Given the description of an element on the screen output the (x, y) to click on. 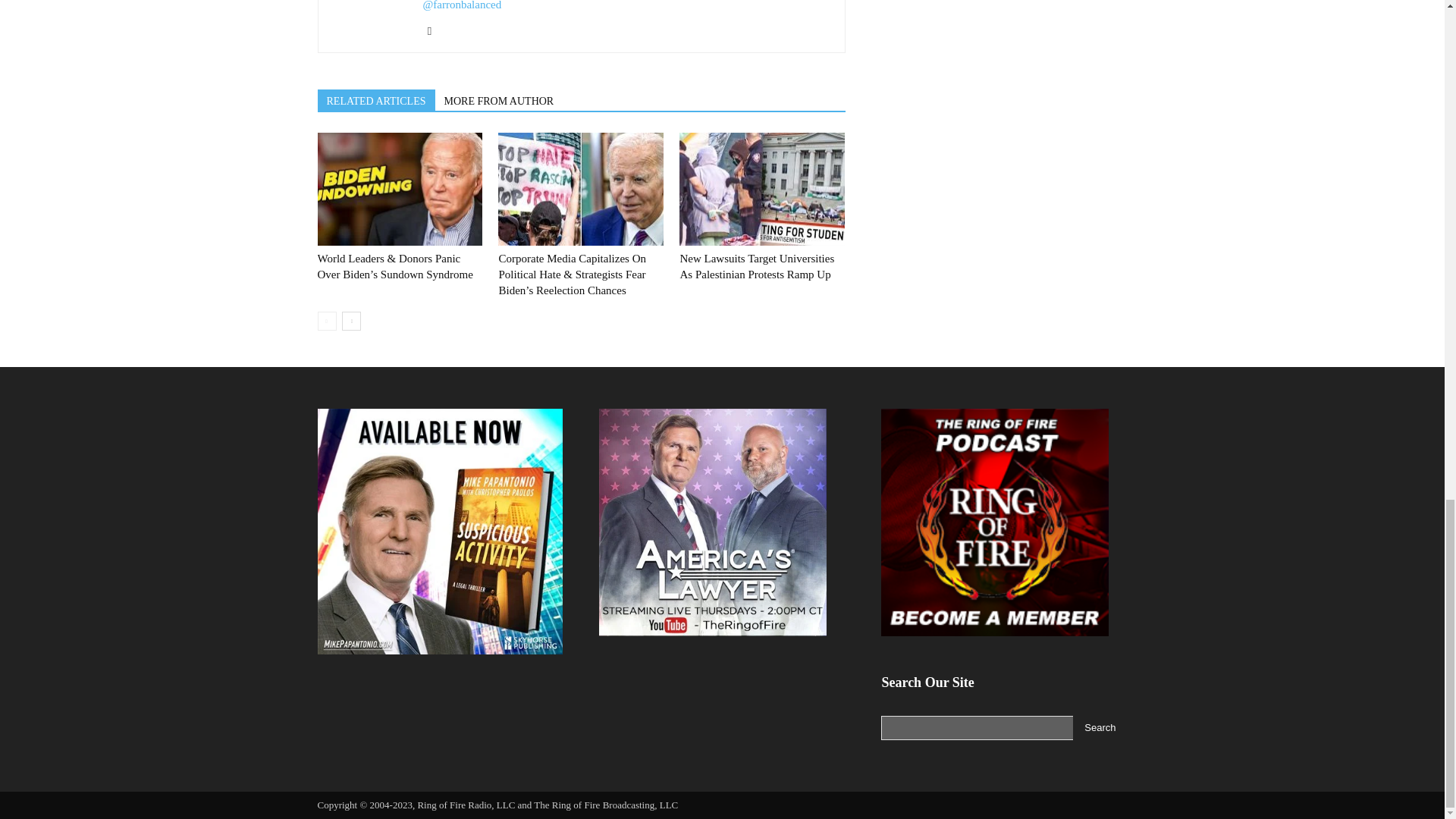
Twitter (435, 30)
Search (1099, 727)
